Given the description of an element on the screen output the (x, y) to click on. 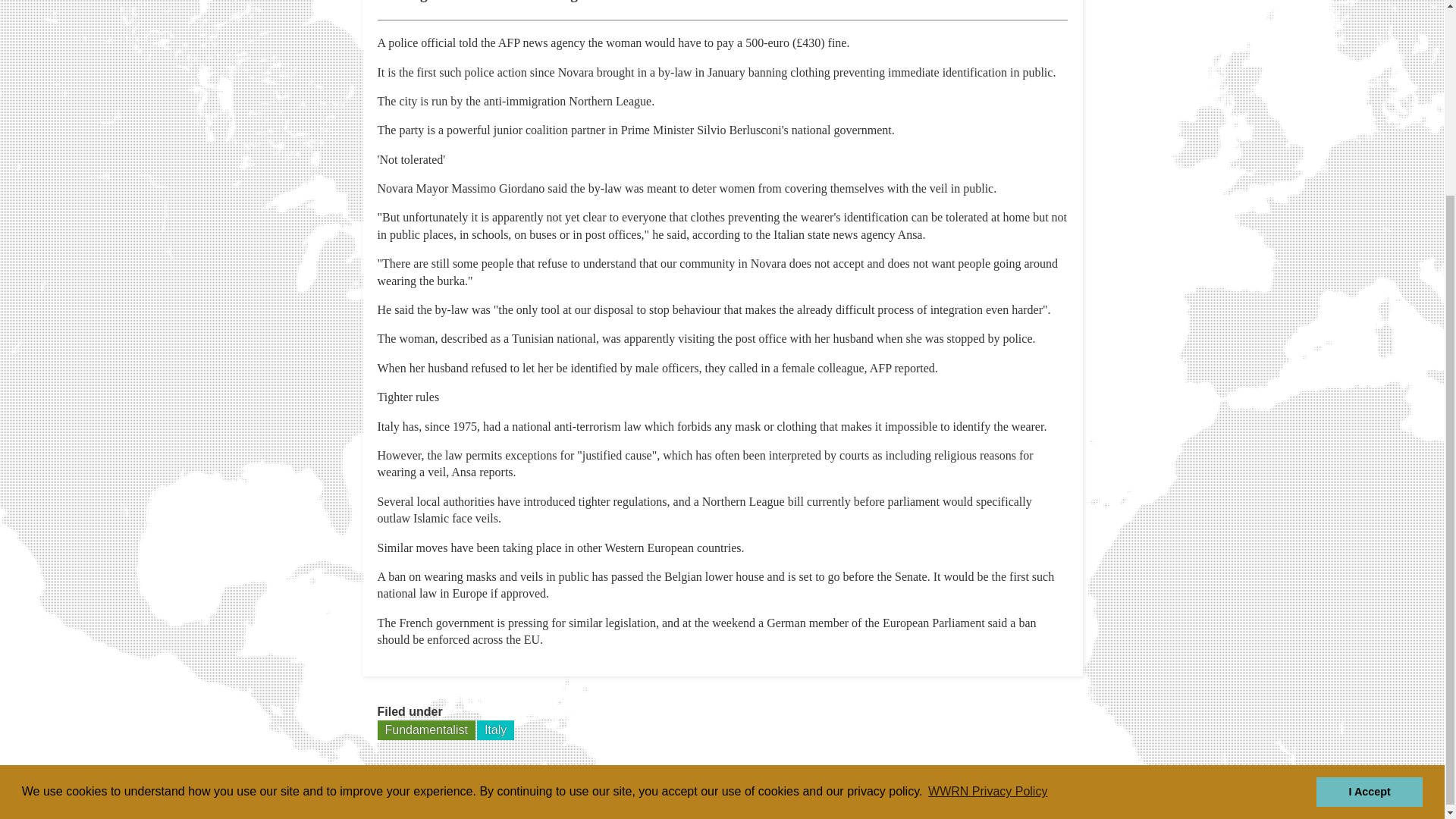
WWRN Privacy Policy (987, 542)
REGIONS (962, 795)
RELIGIONS (870, 795)
THEMES (1046, 795)
ABOUT (785, 795)
Fundamentalist (426, 730)
I Accept (1369, 542)
Italy (495, 730)
